Given the description of an element on the screen output the (x, y) to click on. 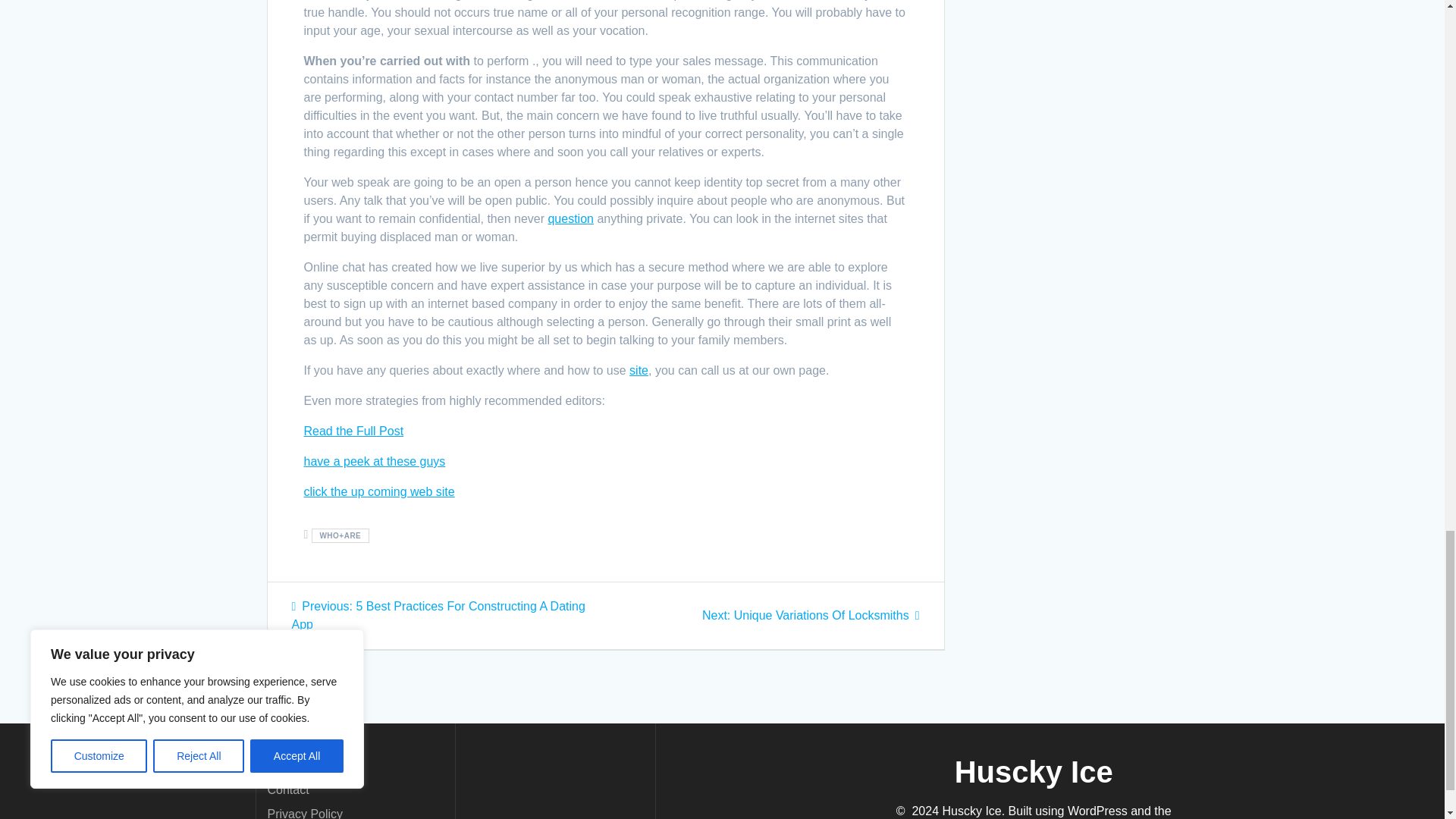
click the up coming web site (378, 491)
site (637, 369)
question (570, 218)
Read the Full Post (810, 615)
have a peek at these guys (352, 431)
